Given the description of an element on the screen output the (x, y) to click on. 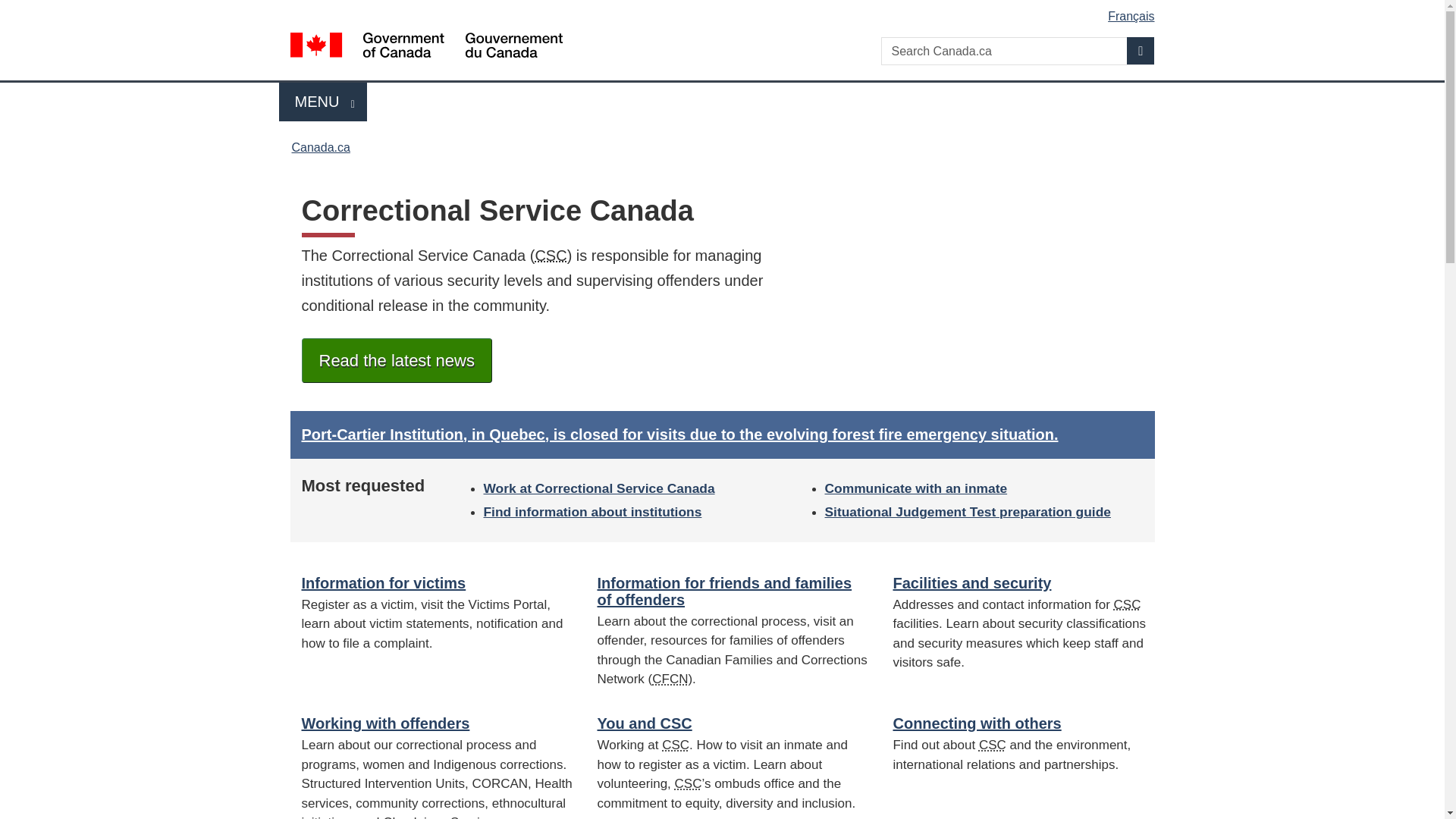
Correctional Service Canada (688, 783)
Correctional Service Canada (1127, 604)
Find information about institutions (592, 511)
Facilities and security (971, 582)
Read the latest news (396, 360)
Information for friends and families of offenders (723, 591)
Communicate with an inmate (916, 488)
Canada.ca (322, 101)
Information for victims (320, 147)
Work at Correctional Service Canada (383, 582)
Connecting with others (598, 488)
Correctional Service Canada (976, 723)
Correctional Service Canada (550, 255)
